Given the description of an element on the screen output the (x, y) to click on. 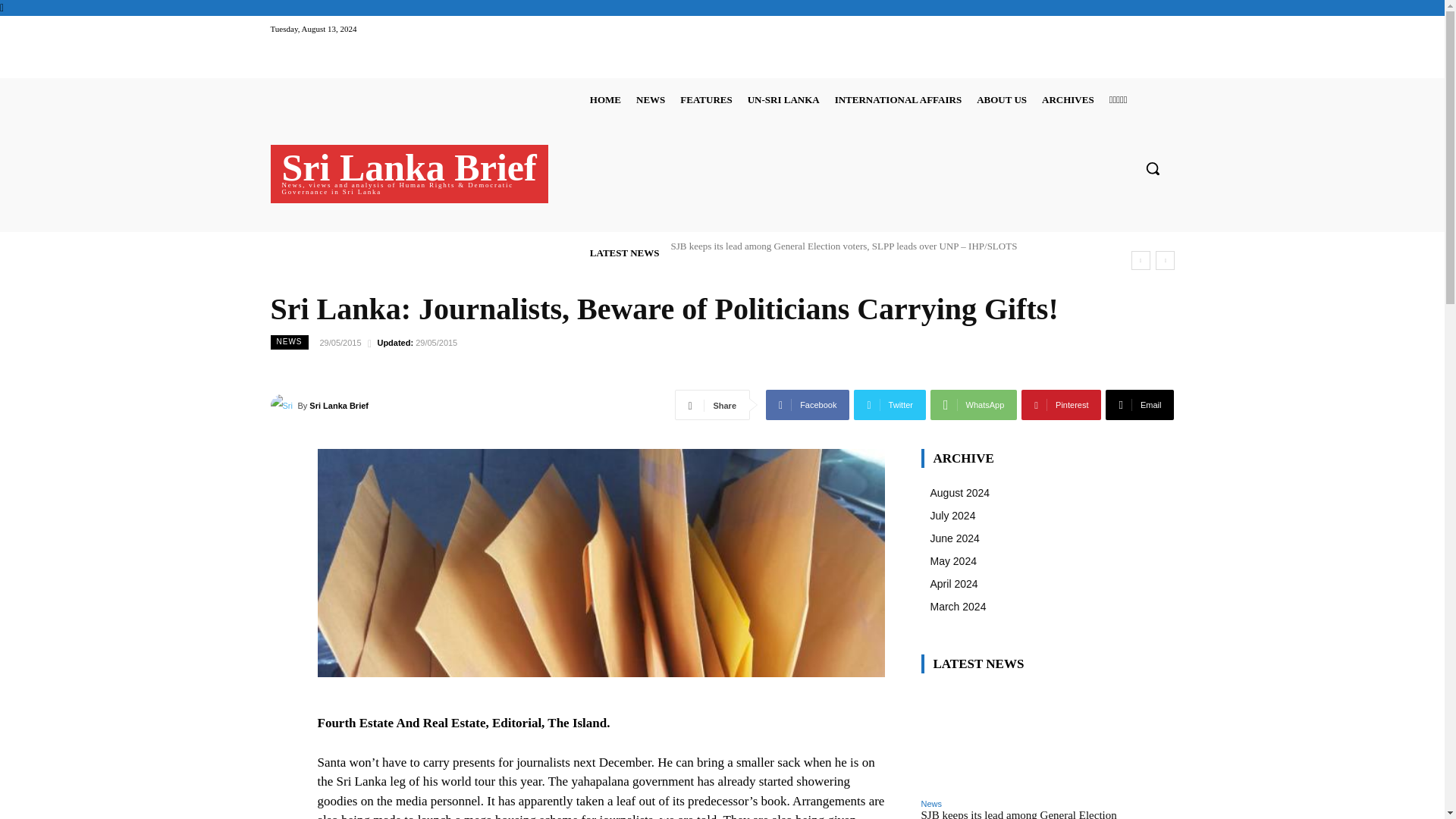
WhatsApp (973, 404)
INTERNATIONAL AFFAIRS (898, 99)
ARCHIVES (1067, 99)
UN-SRI LANKA (783, 99)
Facebook (806, 404)
FEATURES (706, 99)
Twitter (889, 404)
HOME (605, 99)
ABOUT US (1001, 99)
NEWS (650, 99)
